Given the description of an element on the screen output the (x, y) to click on. 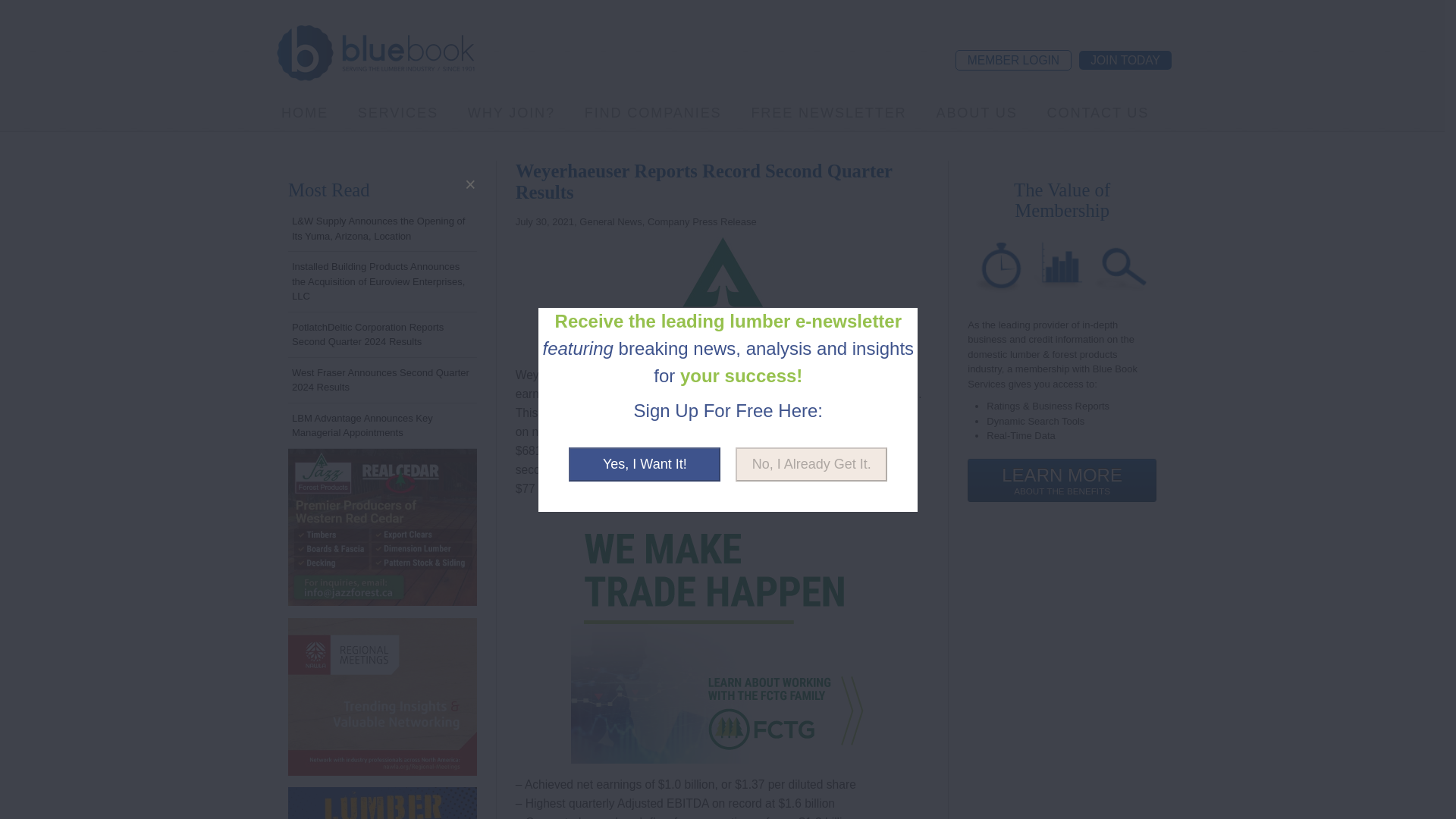
SERVICES (397, 111)
WEYERHAEUSER COMPANY LOGO (721, 287)
WHY JOIN? (511, 111)
MEMBER LOGIN (1013, 59)
HOME (304, 111)
JOIN TODAY (1125, 59)
